Given the description of an element on the screen output the (x, y) to click on. 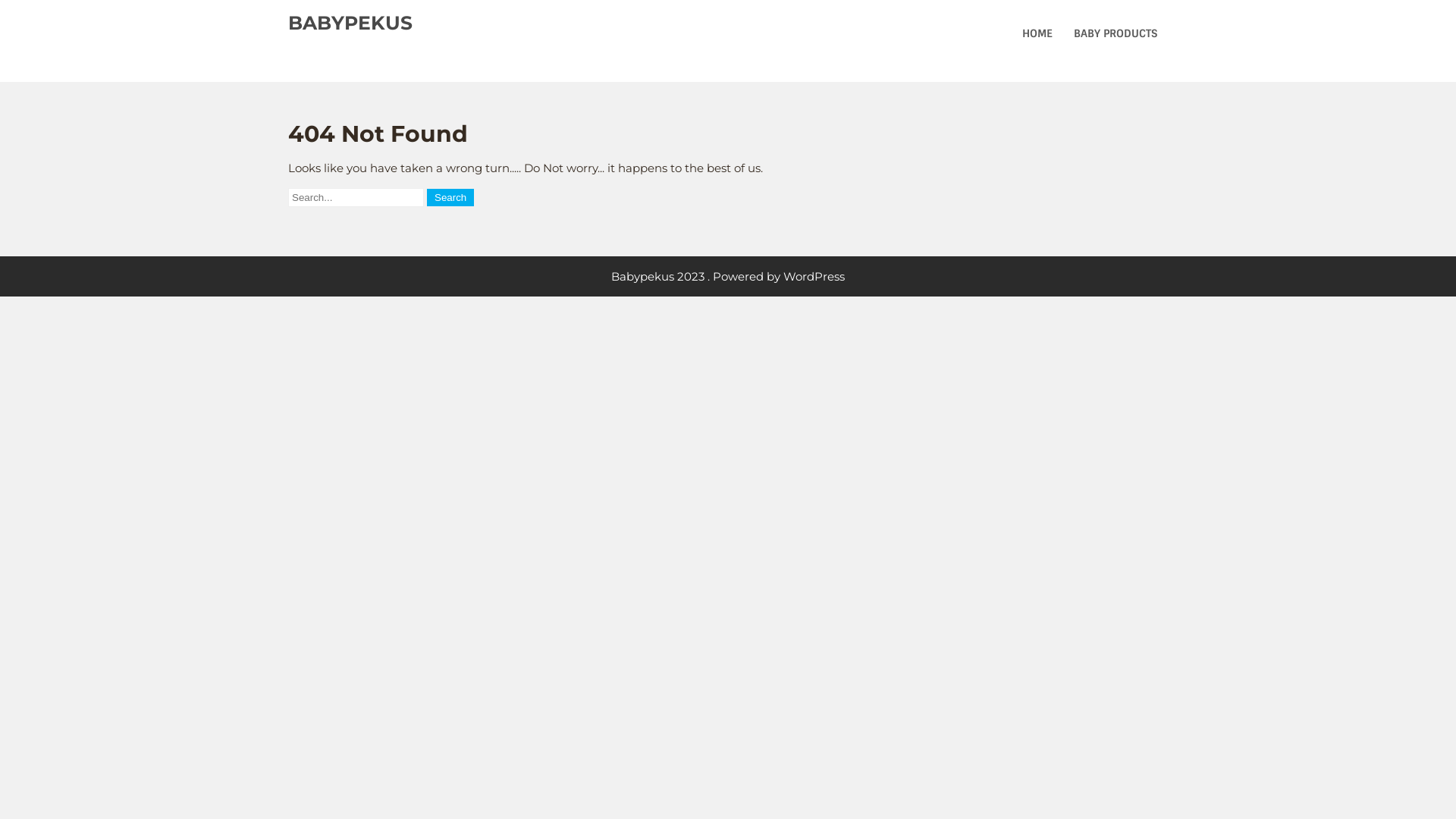
Babypekus 2023 . Powered by WordPress Element type: text (727, 276)
HOME Element type: text (1037, 33)
BABYPEKUS Element type: text (350, 22)
Search Element type: text (449, 197)
BABY PRODUCTS Element type: text (1115, 33)
